Given the description of an element on the screen output the (x, y) to click on. 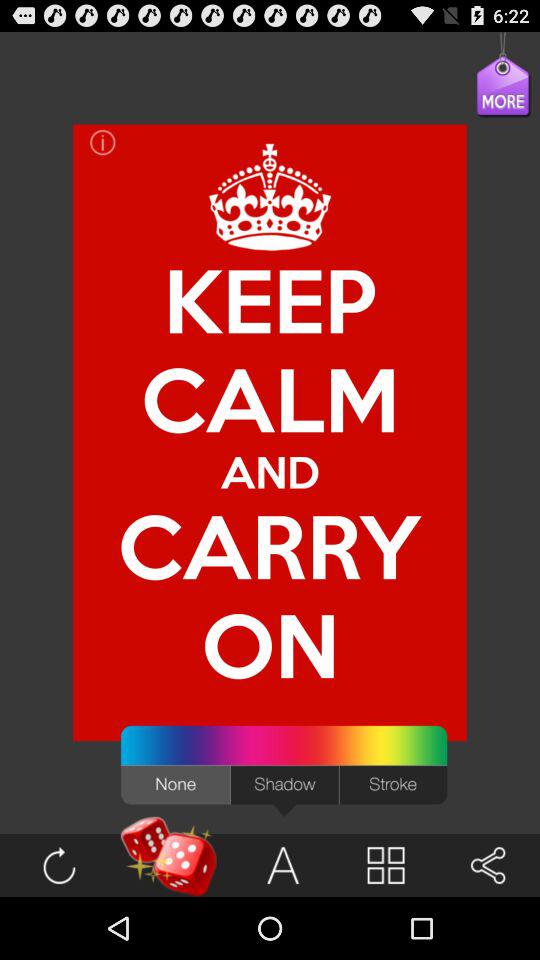
swipe to and icon (269, 471)
